Given the description of an element on the screen output the (x, y) to click on. 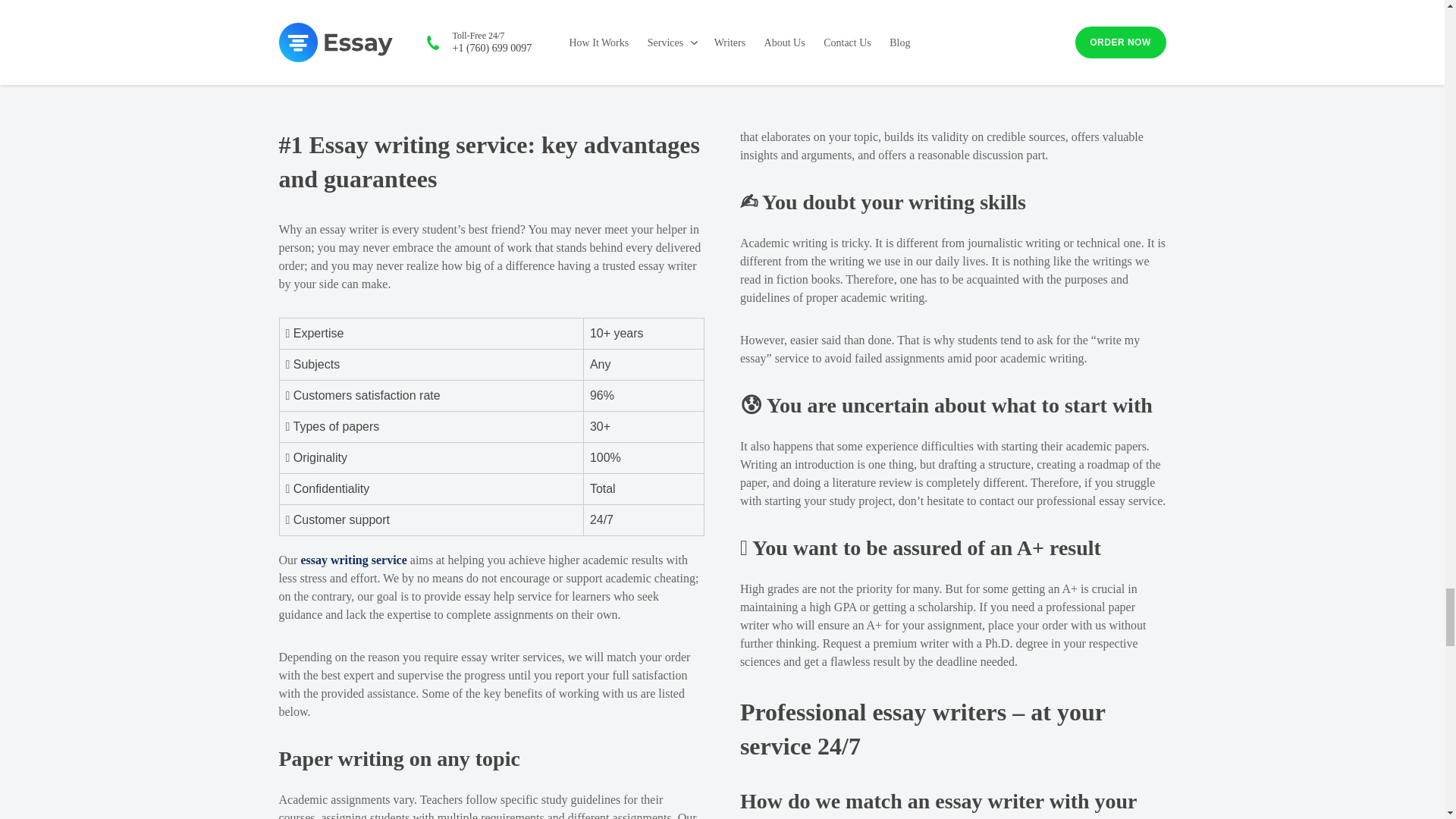
essay writing service (352, 559)
